Given the description of an element on the screen output the (x, y) to click on. 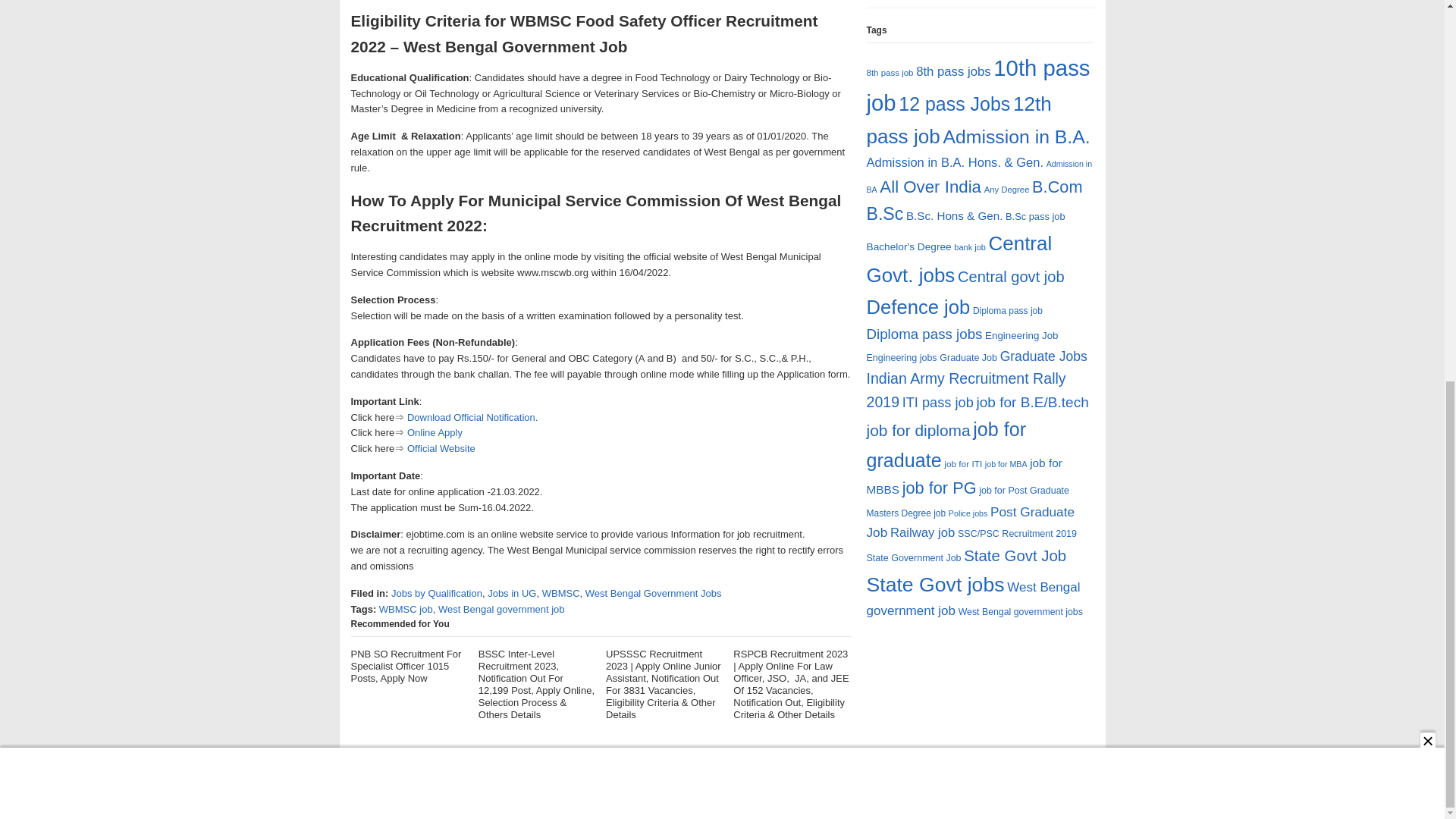
West Bengal government job (501, 609)
WBMSC job (405, 609)
WBMSC (560, 593)
Download Official Notification. (472, 417)
Jobs by Qualification (436, 593)
West Bengal Government Jobs (653, 593)
Jobs in UG (511, 593)
Official Website (441, 448)
Online Apply (435, 432)
